Given the description of an element on the screen output the (x, y) to click on. 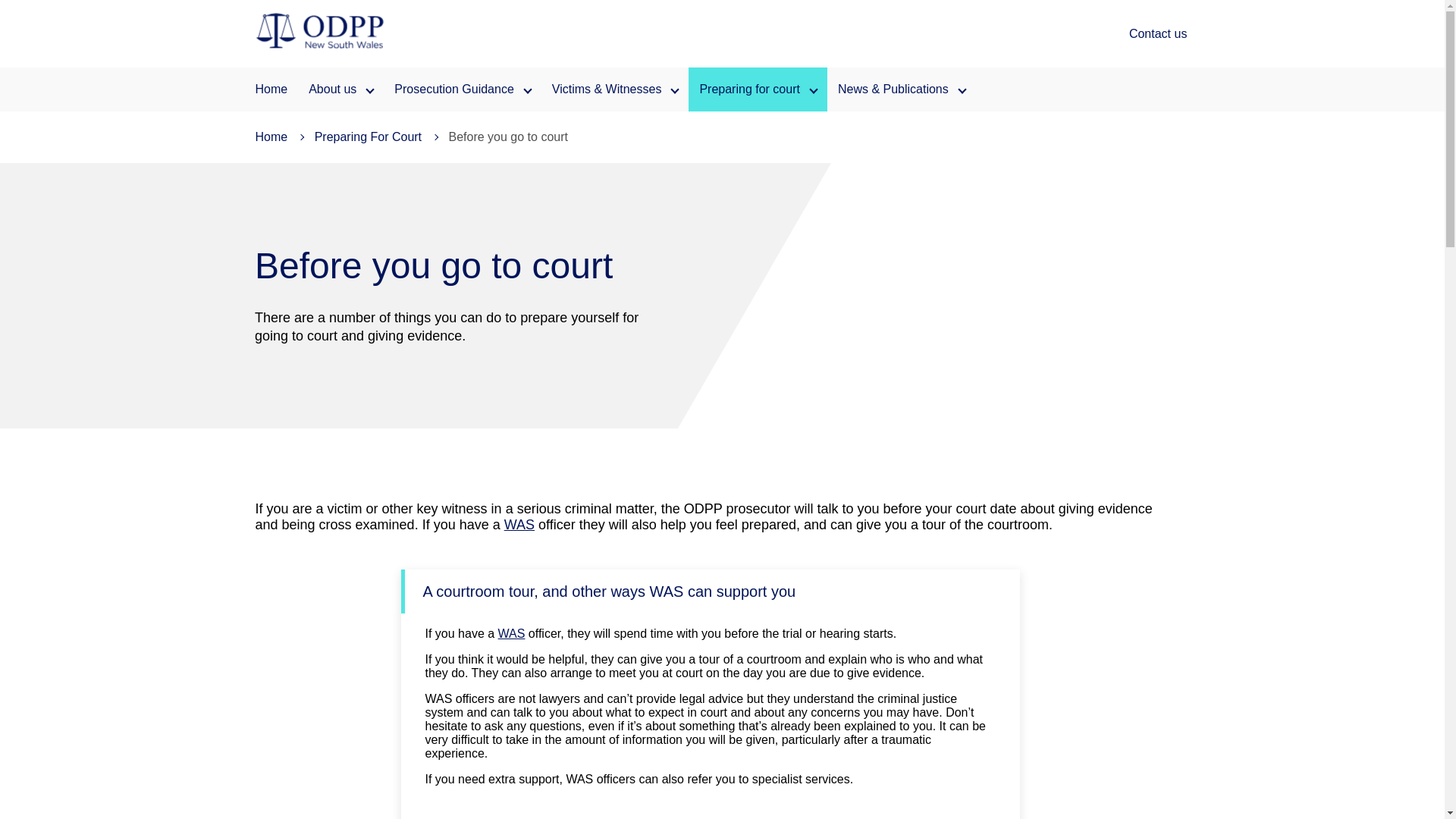
About us (341, 89)
Prosecution Guidance (462, 89)
Contact us (1157, 33)
Witness Assistance Service (511, 633)
Home (271, 89)
WAS (518, 524)
